Given the description of an element on the screen output the (x, y) to click on. 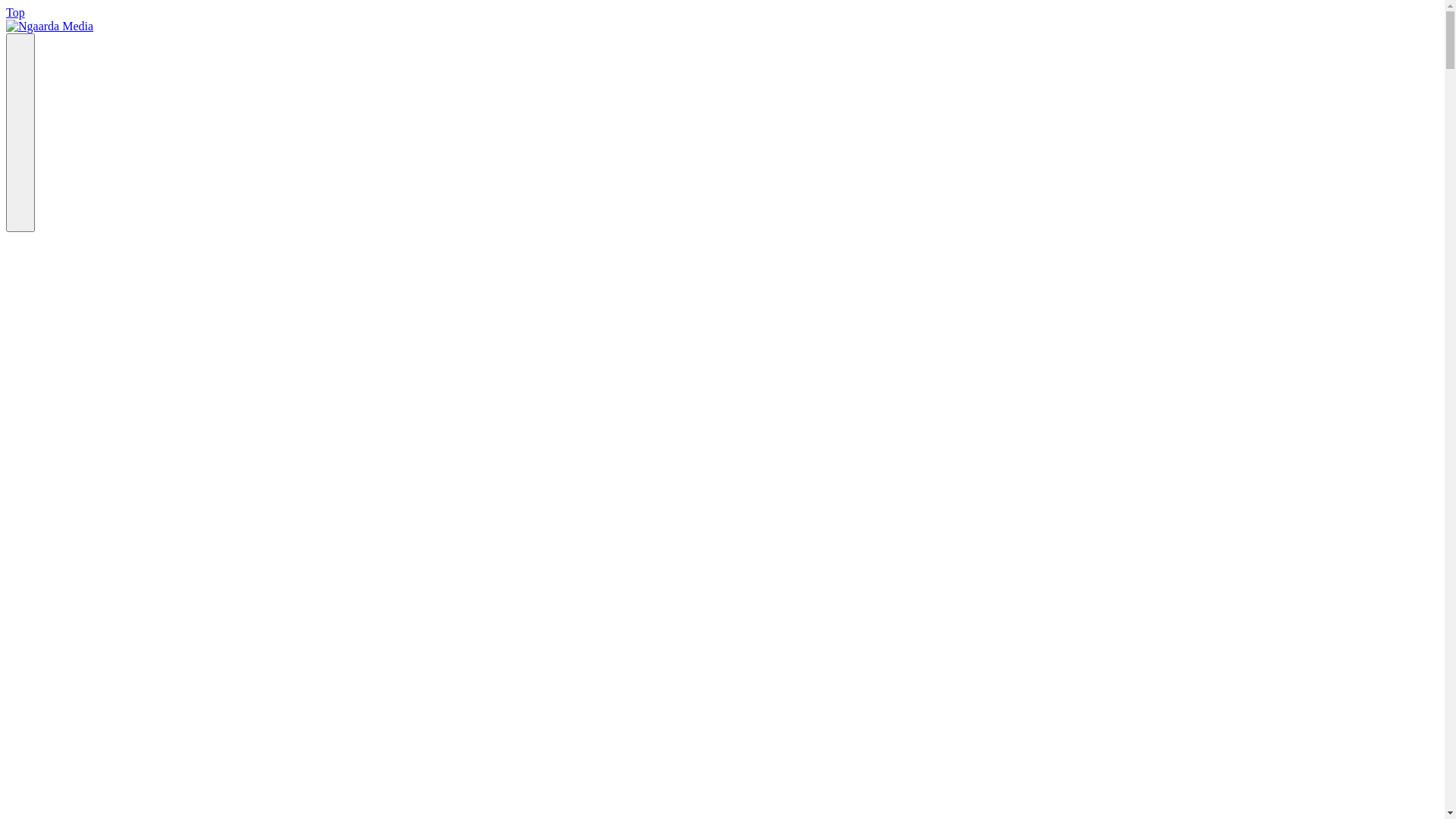
Top Element type: text (15, 12)
